Given the description of an element on the screen output the (x, y) to click on. 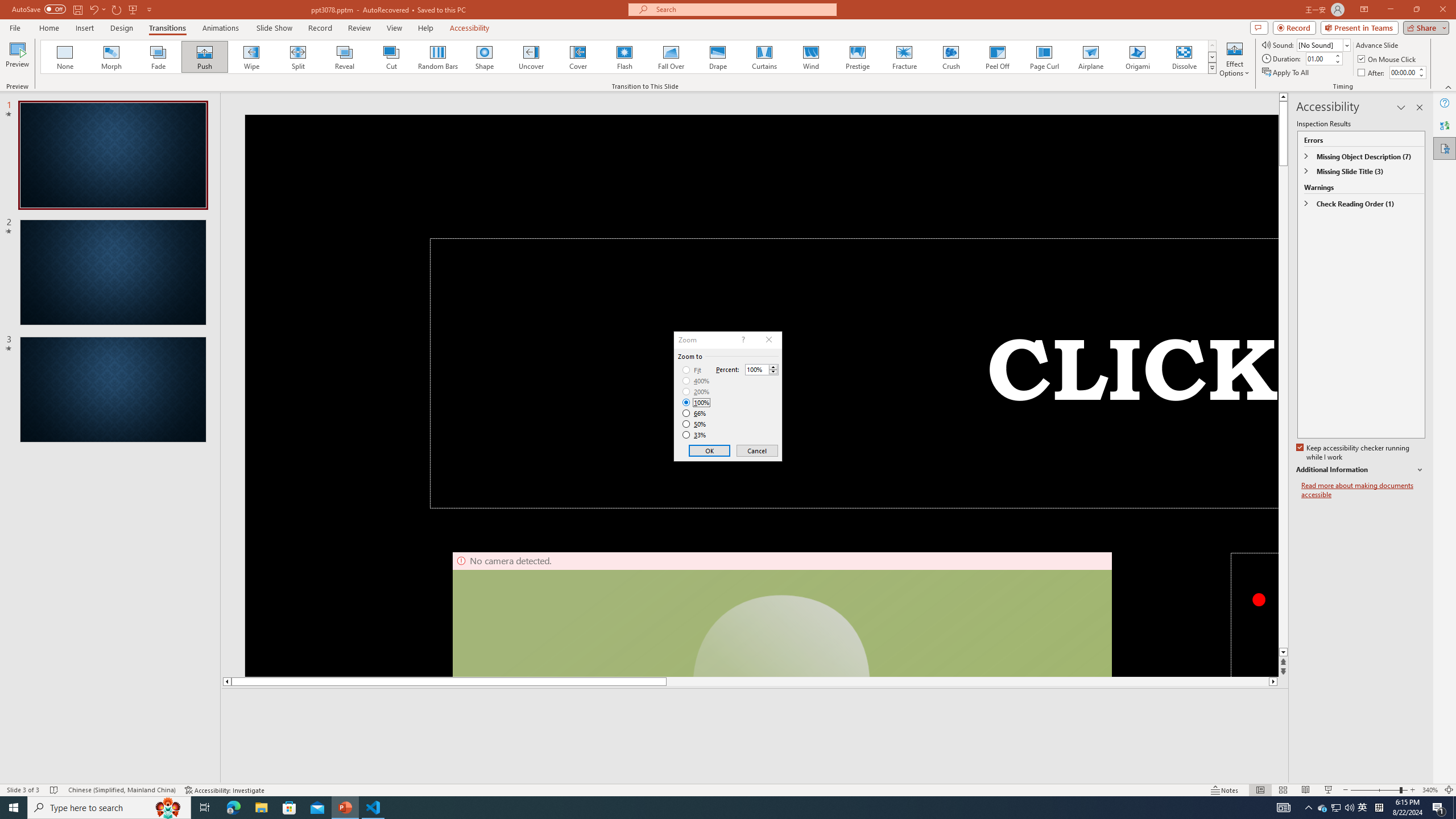
Cover (577, 56)
Prestige (857, 56)
Zoom 340% (1430, 790)
Drape (717, 56)
Page Curl (1043, 56)
Cancel (756, 450)
